Given the description of an element on the screen output the (x, y) to click on. 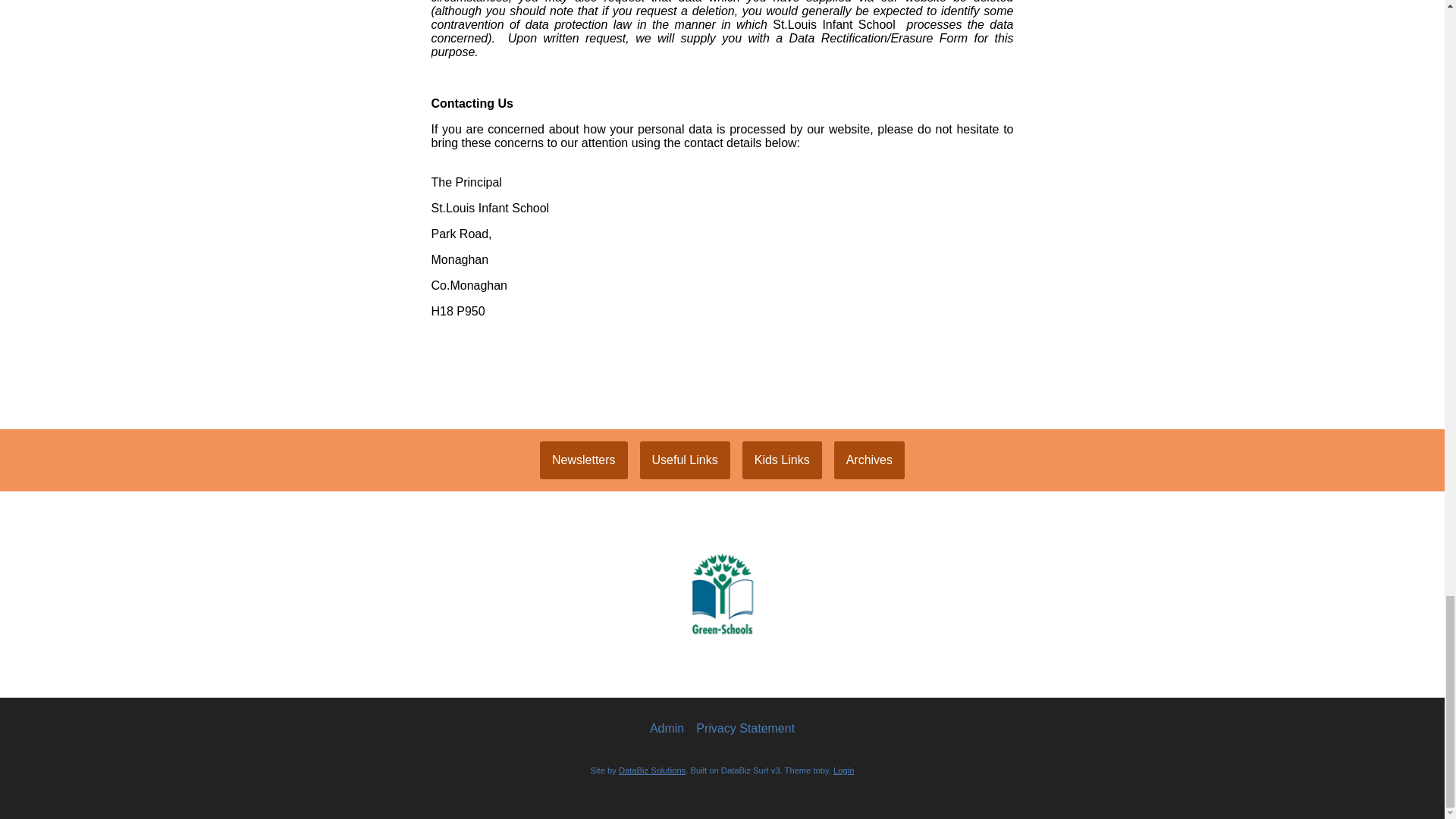
DataBiz Solutions (651, 769)
Login (842, 769)
Privacy Statement (744, 728)
Admin (666, 728)
Useful Links (685, 460)
Archives (869, 460)
Kids Links (782, 460)
Newsletters (583, 460)
